Given the description of an element on the screen output the (x, y) to click on. 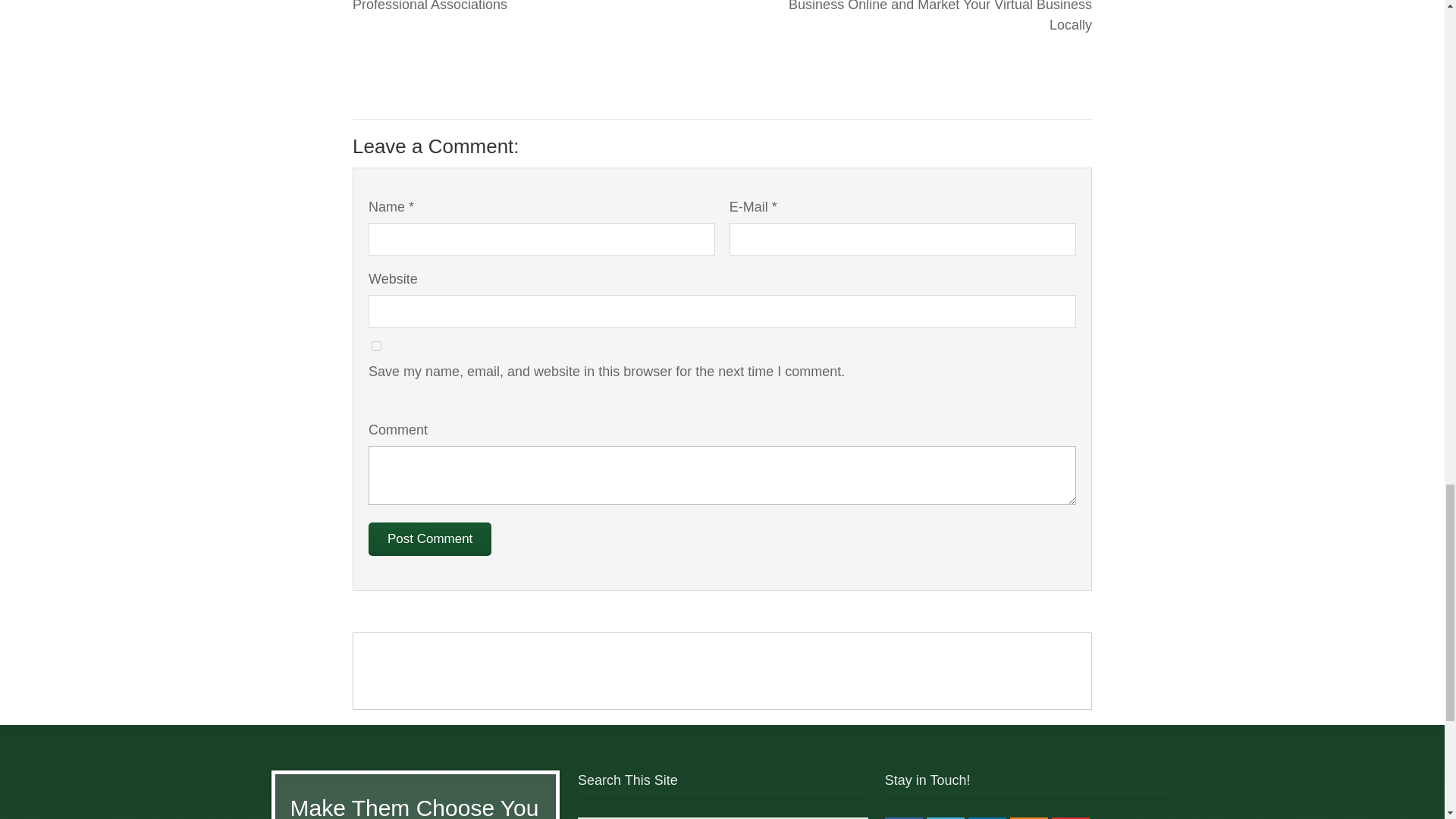
Post Comment (430, 539)
yes (376, 346)
